Given the description of an element on the screen output the (x, y) to click on. 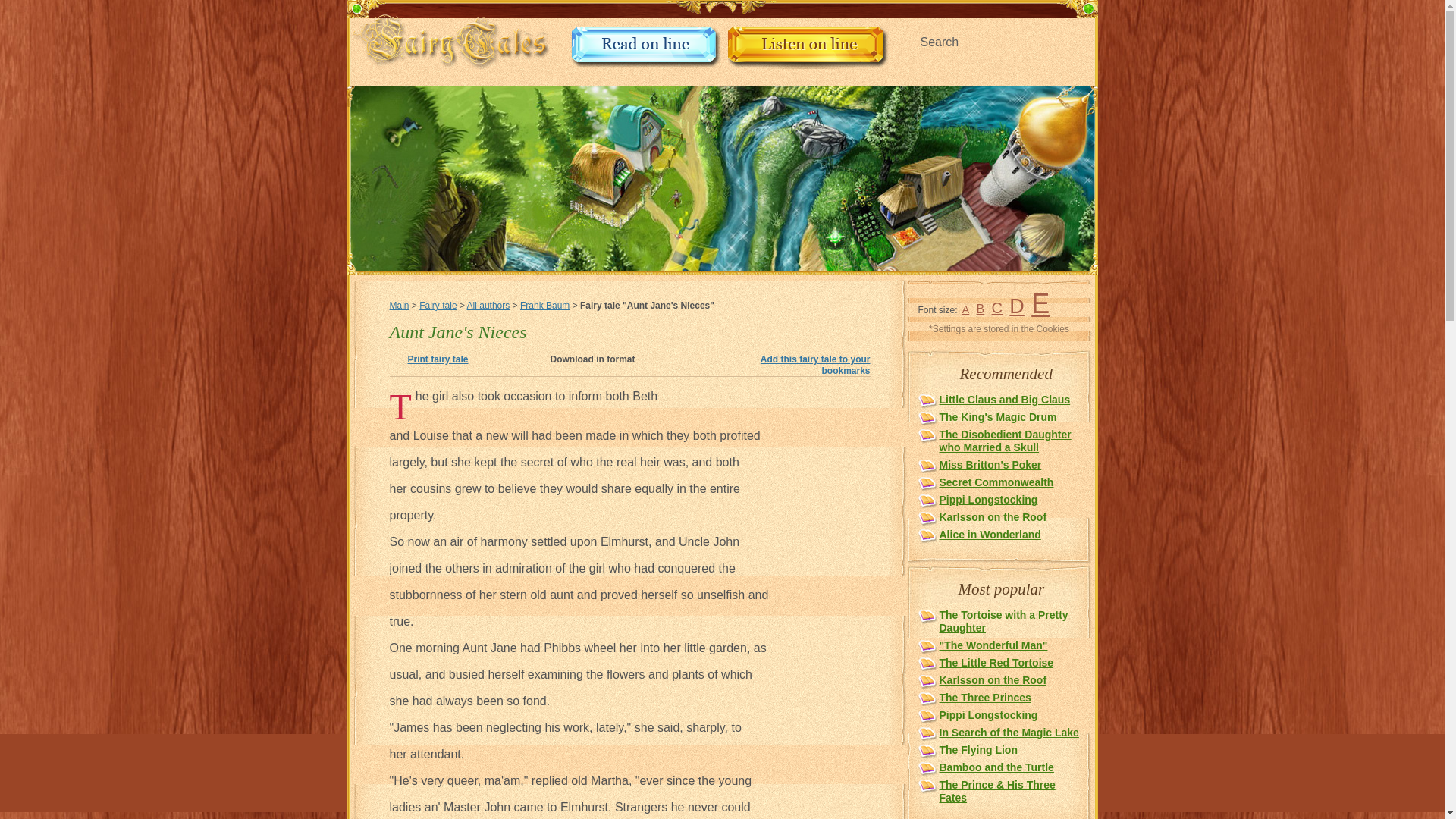
Bamboo and the Turtle (995, 767)
The Disobedient Daughter who Married a Skull (1004, 440)
Karlsson on the Roof (992, 517)
The Tortoise with a Pretty Daughter (1003, 621)
Listen on line (808, 64)
In Search of the Magic Lake (1008, 732)
Print fairy tale (437, 358)
Search (995, 42)
All authors (489, 305)
Fairy tale (438, 305)
